Given the description of an element on the screen output the (x, y) to click on. 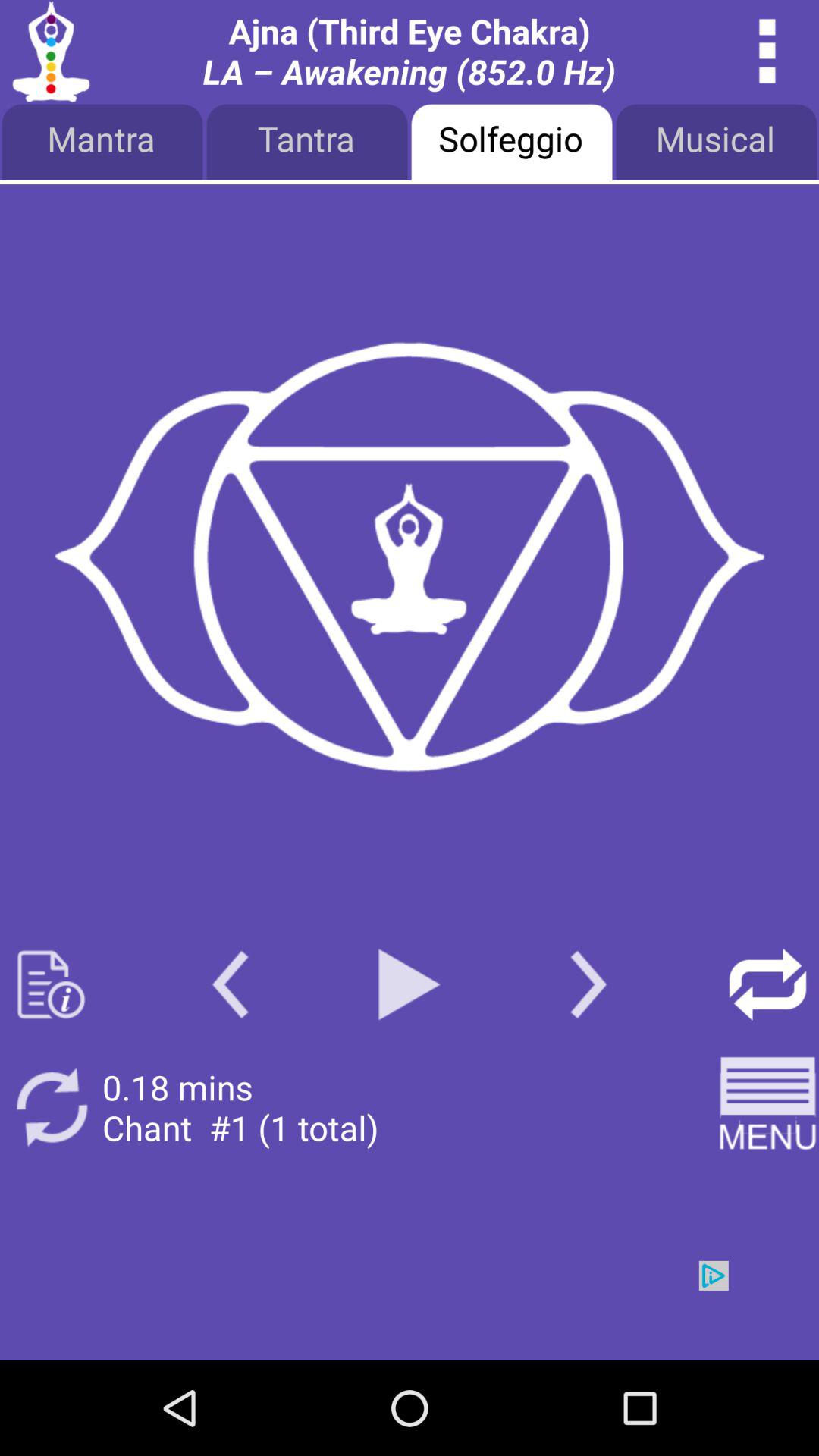
advertisement page (408, 558)
